Given the description of an element on the screen output the (x, y) to click on. 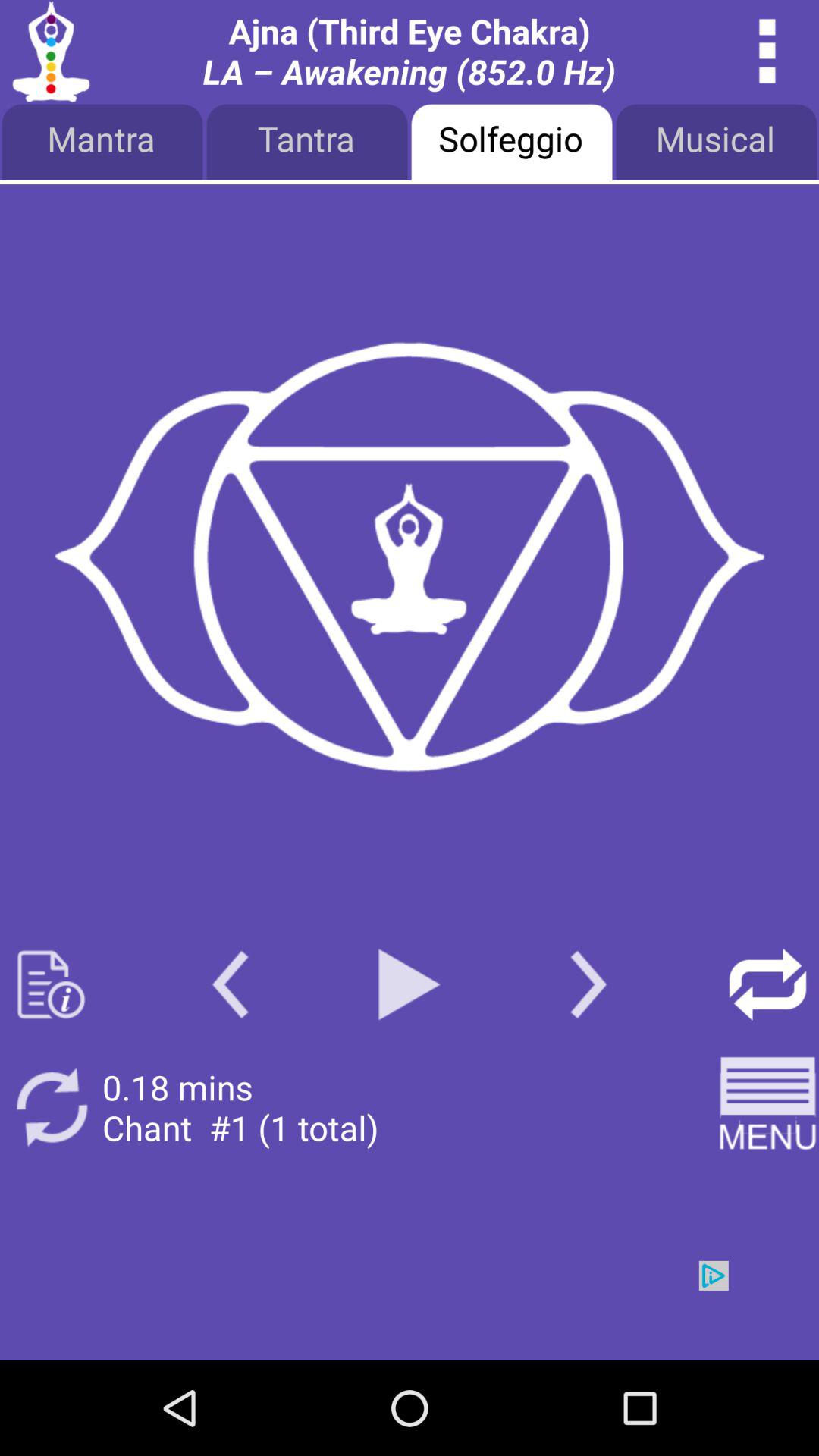
advertisement page (408, 558)
